Given the description of an element on the screen output the (x, y) to click on. 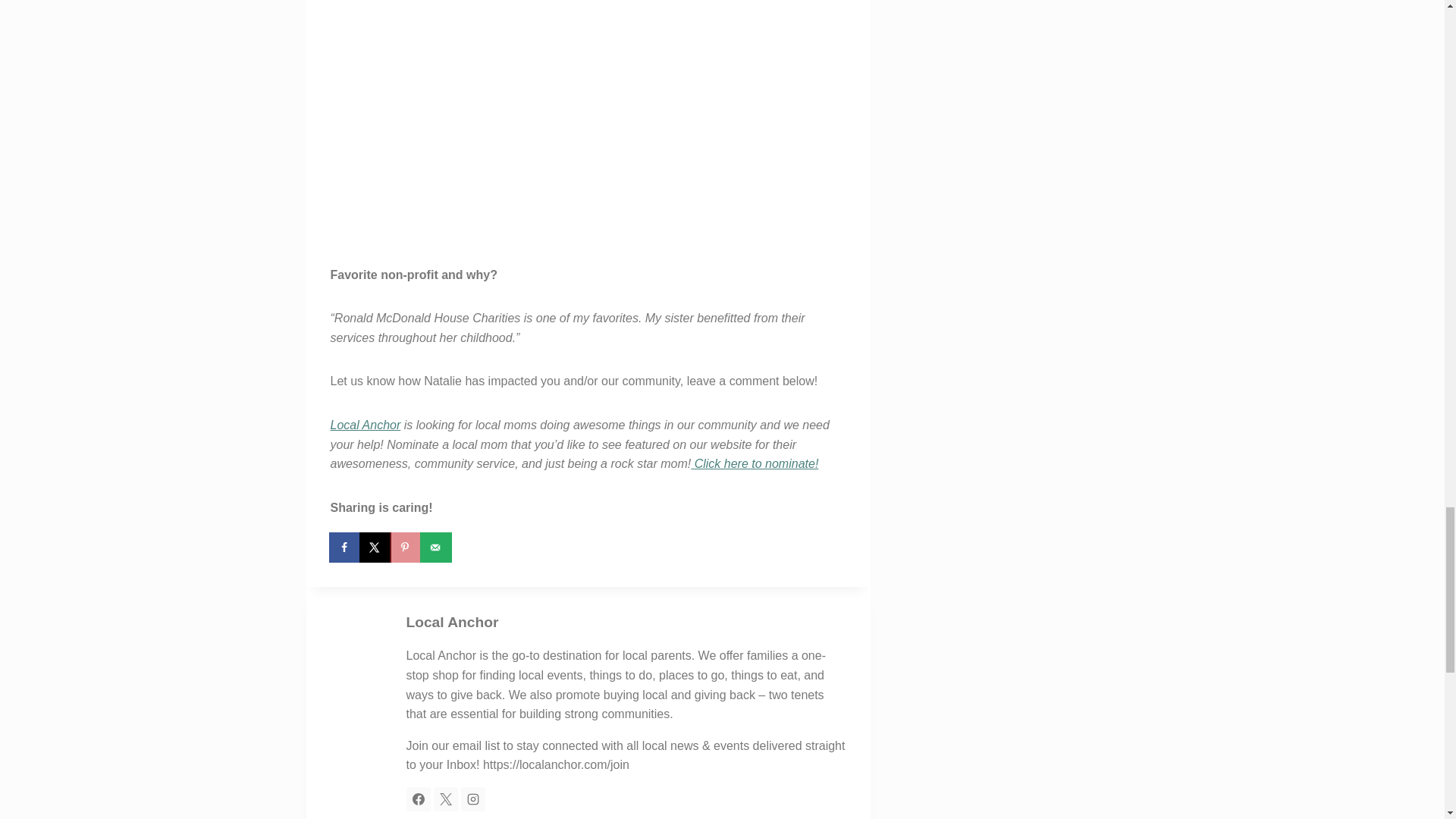
Share on Facebook (345, 547)
Save to Pinterest (406, 547)
Send over email (436, 547)
Share on X (376, 547)
Moms Making A Difference: Natalie Croswell 3 (587, 120)
Posts by Local Anchor (452, 621)
Follow Local Anchor on Facebook (418, 799)
